Given the description of an element on the screen output the (x, y) to click on. 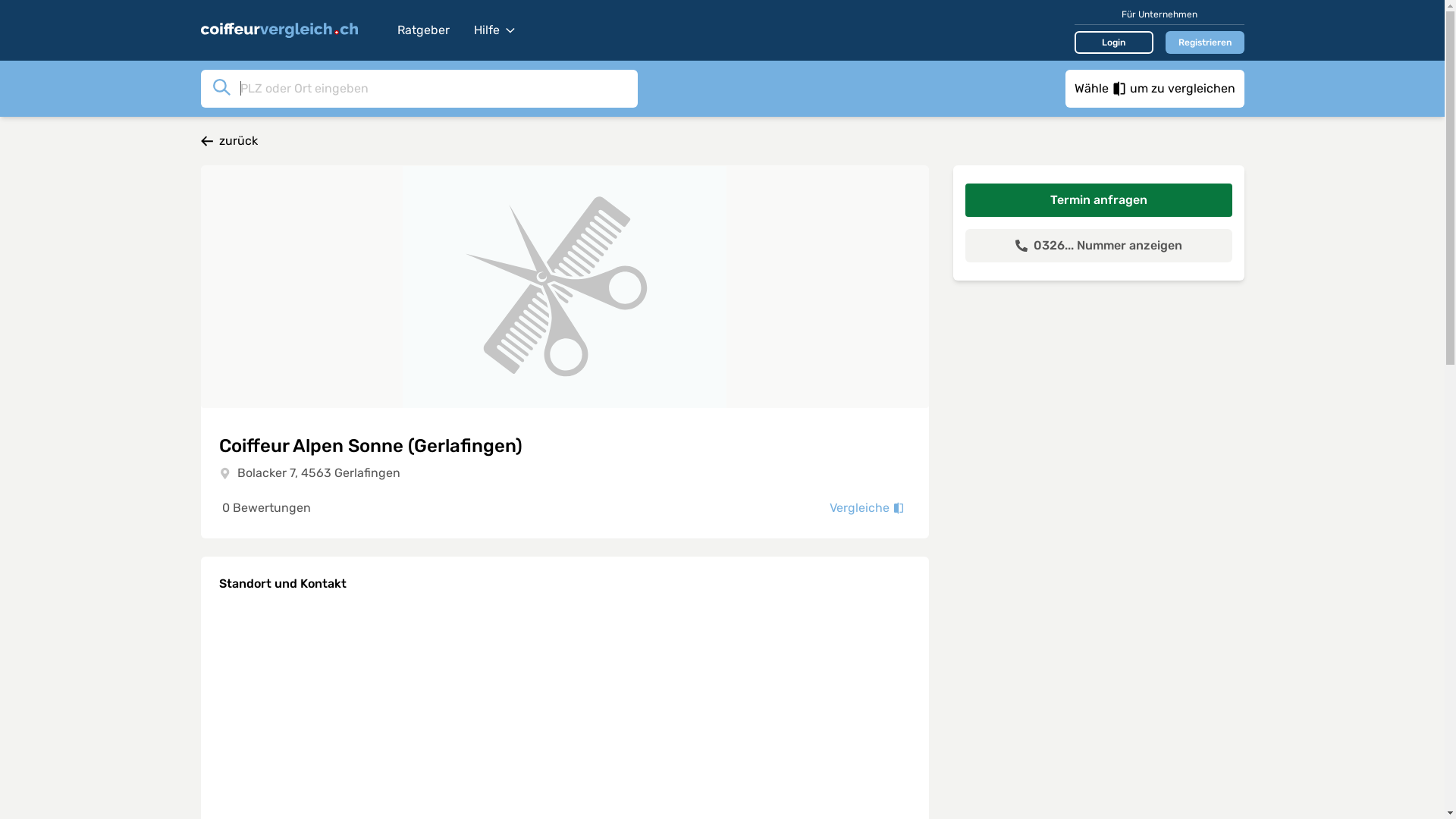
Registrieren Element type: text (1203, 41)
Zur Startseite Element type: hover (290, 29)
Vergleiche Element type: text (866, 507)
Bolacker 7, 4563 Gerlafingen Element type: text (317, 472)
Ratgeber Element type: text (423, 30)
Hilfe Element type: text (493, 30)
Login Element type: text (1112, 41)
Termin anfragen Element type: text (1097, 199)
